Given the description of an element on the screen output the (x, y) to click on. 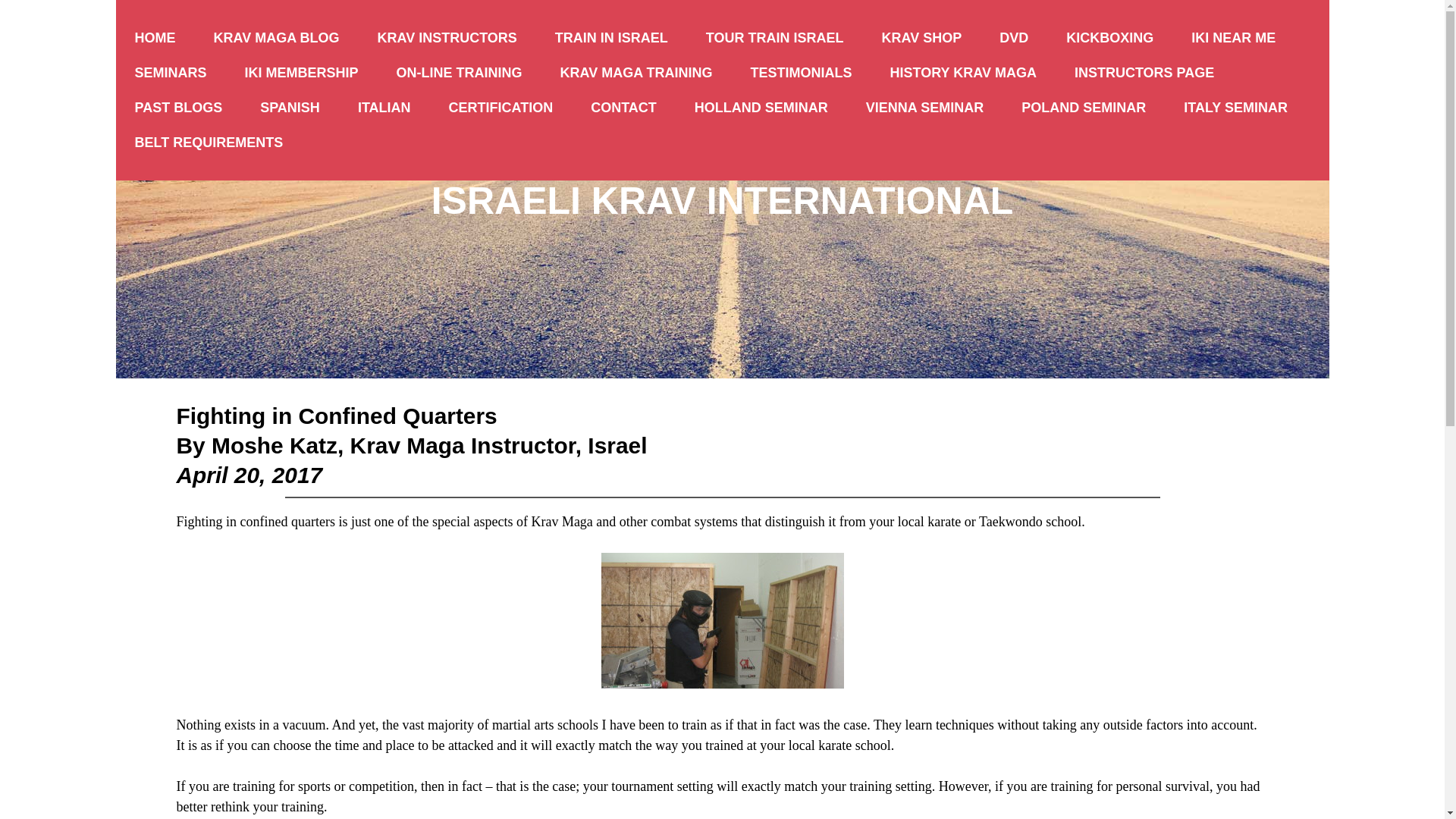
DVD (1012, 37)
TESTIMONIALS (801, 72)
CERTIFICATION (500, 107)
KICKBOXING (1109, 37)
KRAV MAGA BLOG (275, 37)
BELT REQUIREMENTS (208, 142)
ITALY SEMINAR (1235, 107)
TRAIN IN ISRAEL (611, 37)
CONTACT (623, 107)
PAST BLOGS (178, 107)
ISRAELI KRAV INTERNATIONAL (721, 200)
IKI NEAR ME (1233, 37)
HOLLAND SEMINAR (761, 107)
SPANISH (290, 107)
POLAND SEMINAR (1083, 107)
